Given the description of an element on the screen output the (x, y) to click on. 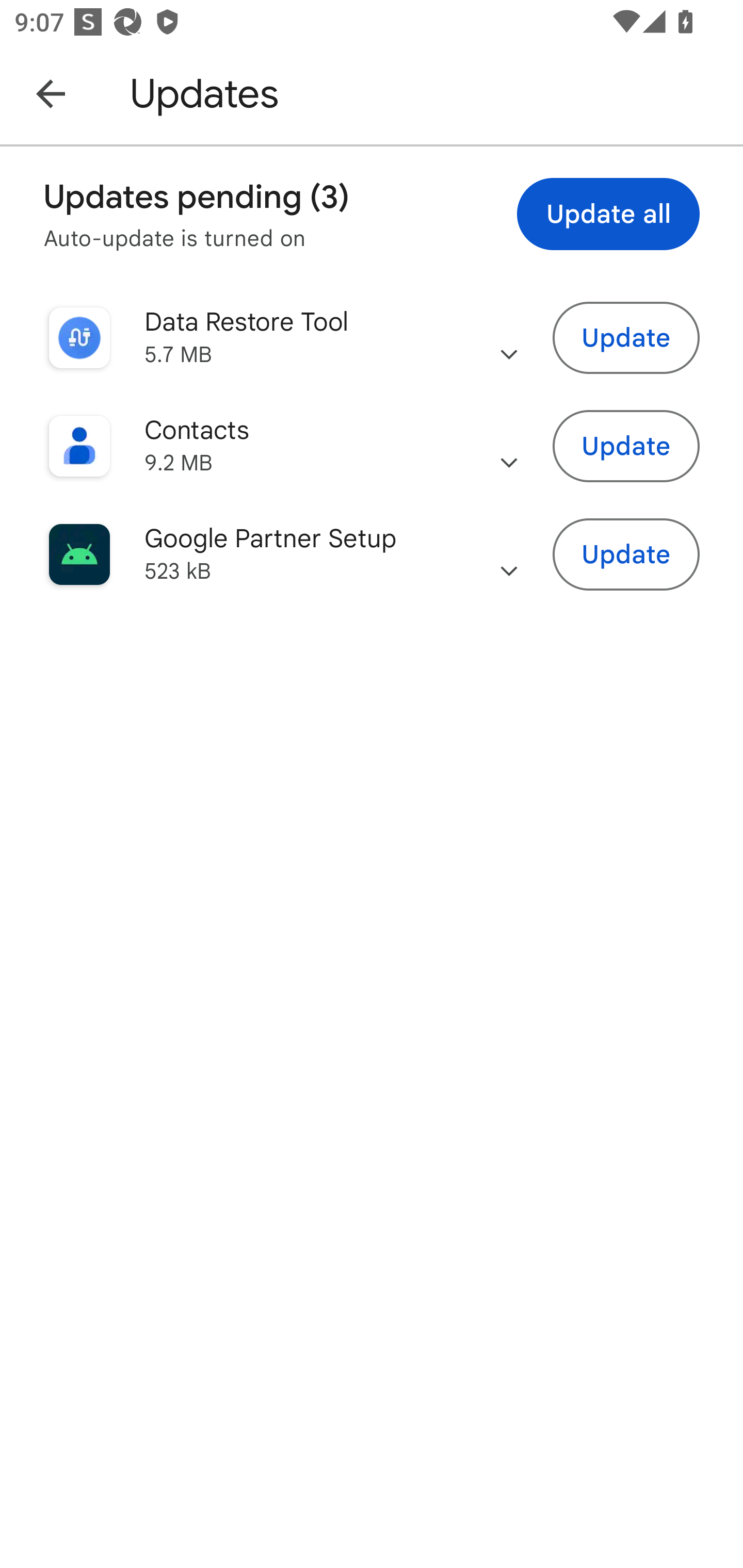
Navigate up (50, 92)
Update all (608, 213)
Changes in the app (508, 337)
Update (625, 337)
Changes in the app (508, 446)
Update (625, 446)
Changes in the app (508, 554)
Update (625, 555)
